Given the description of an element on the screen output the (x, y) to click on. 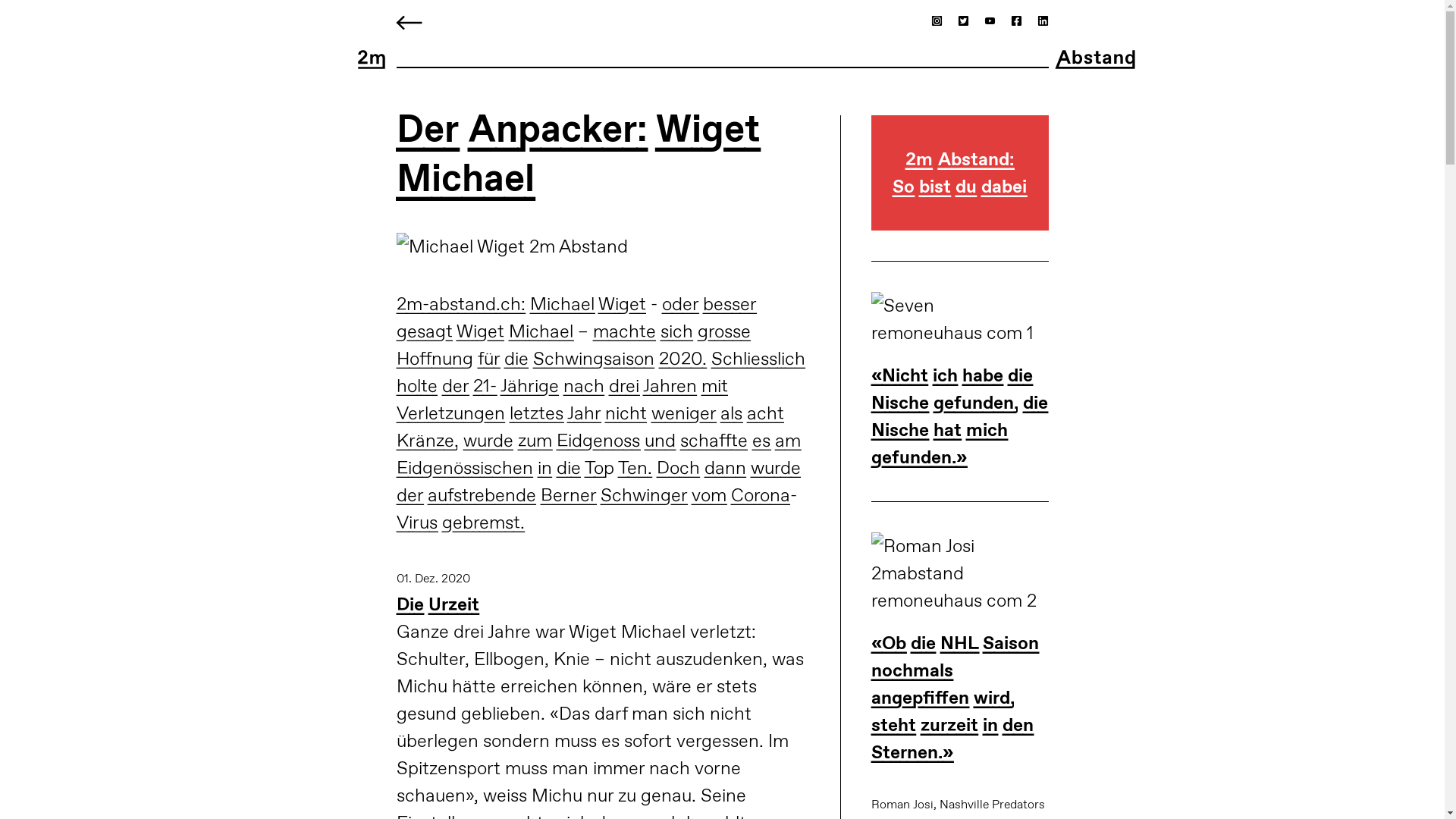
2m Abstand:
So bist du dabei Element type: text (959, 188)
